Given the description of an element on the screen output the (x, y) to click on. 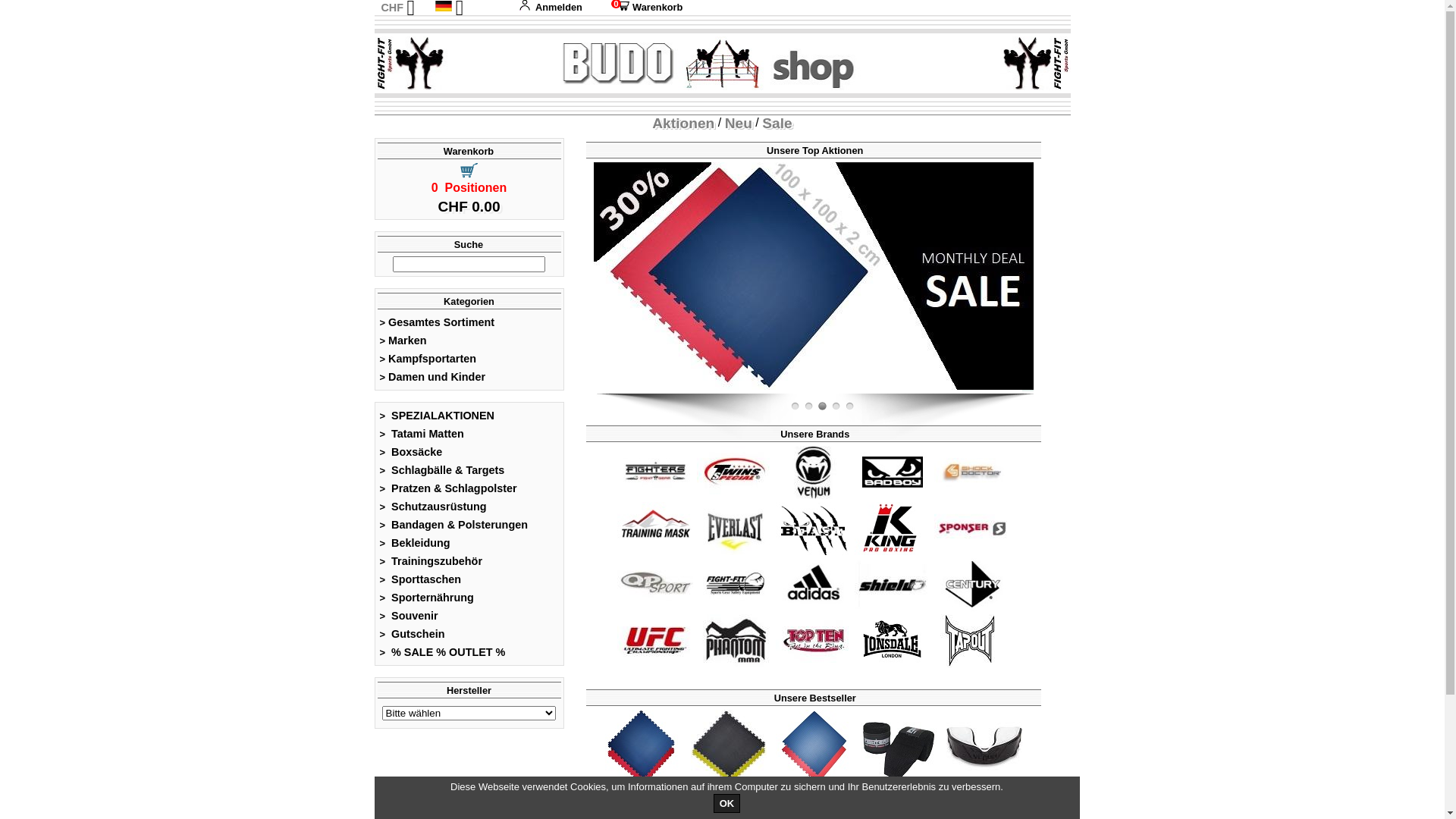
EUR Element type: text (390, 22)
Warenkorb Element type: text (468, 150)
Besteller Element type: hover (727, 747)
1 Element type: text (808, 405)
1 Element type: text (794, 405)
 0  Warenkorb Element type: text (643, 6)
>  Gutschein Element type: text (412, 633)
>  Bandagen & Polsterungen Element type: text (453, 524)
Besteller Element type: hover (642, 747)
1 Element type: text (835, 405)
>  Souvenir Element type: text (408, 615)
1 Element type: text (849, 405)
> Damen und Kinder Element type: text (432, 376)
OK Element type: text (726, 802)
> Marken Element type: text (402, 340)
> Kampfsportarten Element type: text (427, 358)
>  Pratzen & Schlagpolster Element type: text (448, 488)
English Element type: text (462, 22)
1 Element type: text (822, 405)
> Gesamtes Sortiment Element type: text (437, 322)
Suche Element type: text (468, 244)
>  Tatami Matten Element type: text (421, 433)
Besteller Element type: hover (813, 747)
>  Sporttaschen Element type: text (420, 579)
>  % SALE % OUTLET % Element type: text (442, 651)
Fight-Fit.ch Element type: text (1029, 390)
Sale Element type: text (776, 123)
Italiano Element type: text (462, 54)
Steckmatten / 100 x 100 x 2.0 cm / Blau-Rot Element type: hover (813, 275)
Venum - Handpratzen / Light / Weiss-Schwarz Element type: hover (373, 275)
CHF Element type: text (391, 7)
>  Bekleidung Element type: text (414, 542)
Besteller Element type: hover (984, 747)
USD Element type: text (390, 38)
Aktionen Element type: text (683, 123)
Neu Element type: text (738, 123)
Anmelden Element type: text (550, 6)
Deutsch Element type: hover (443, 5)
>  SPEZIALAKTIONEN Element type: text (437, 415)
Besteller Element type: hover (898, 747)
